Given the description of an element on the screen output the (x, y) to click on. 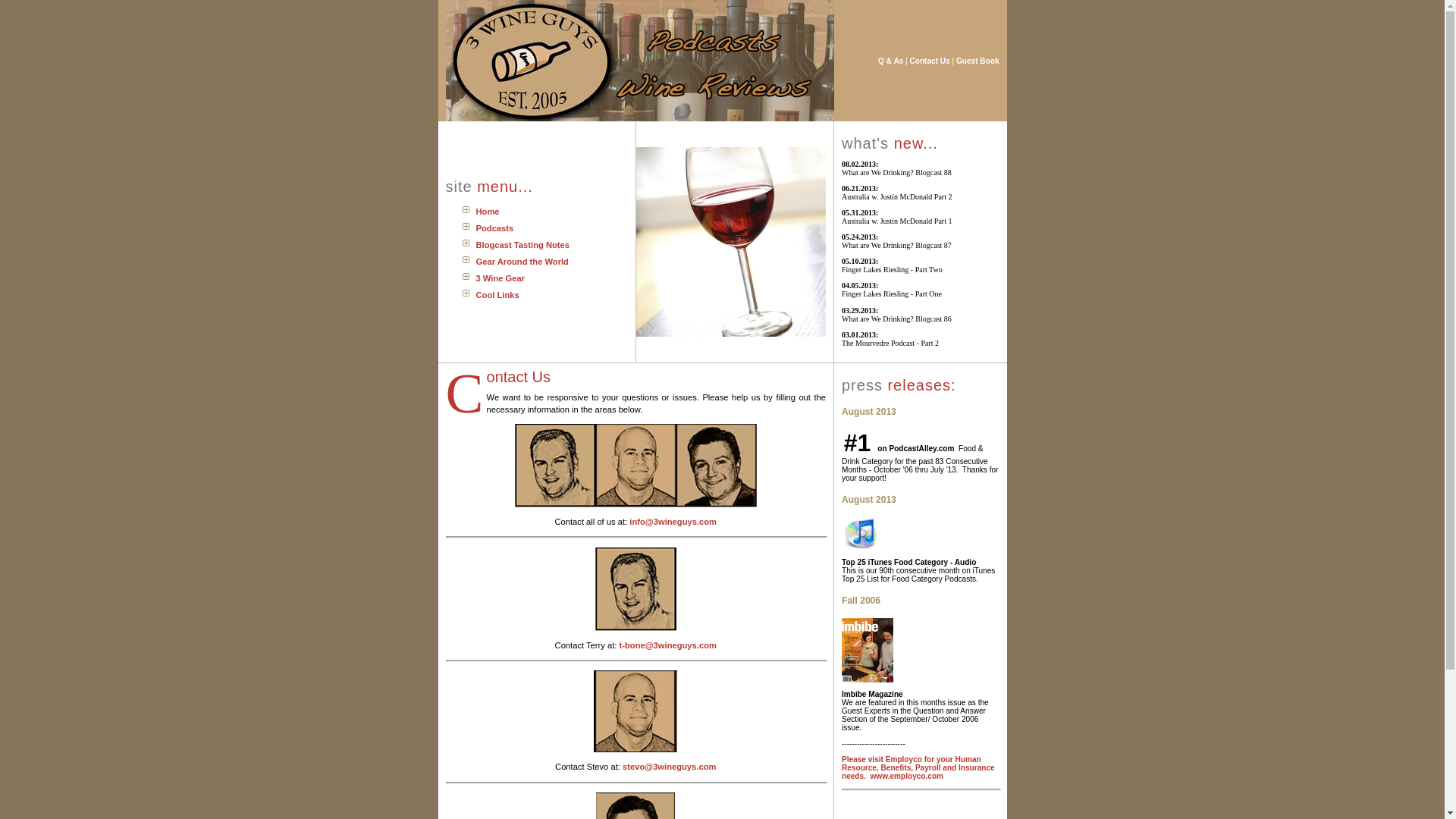
Q & As Element type: text (890, 60)
Blogcast Tasting Notes Element type: text (523, 244)
Podcasts Element type: text (495, 227)
Cool Links Element type: text (497, 294)
Gear Around the World Element type: text (522, 261)
stevo@3wineguys.com Element type: text (668, 766)
info@3wineguys.com Element type: text (672, 521)
3 Wine Gear Element type: text (500, 277)
Home Element type: text (487, 211)
Guest Book Element type: text (977, 60)
Contact Us Element type: text (930, 60)
t-bone@3wineguys.com Element type: text (667, 644)
